Given the description of an element on the screen output the (x, y) to click on. 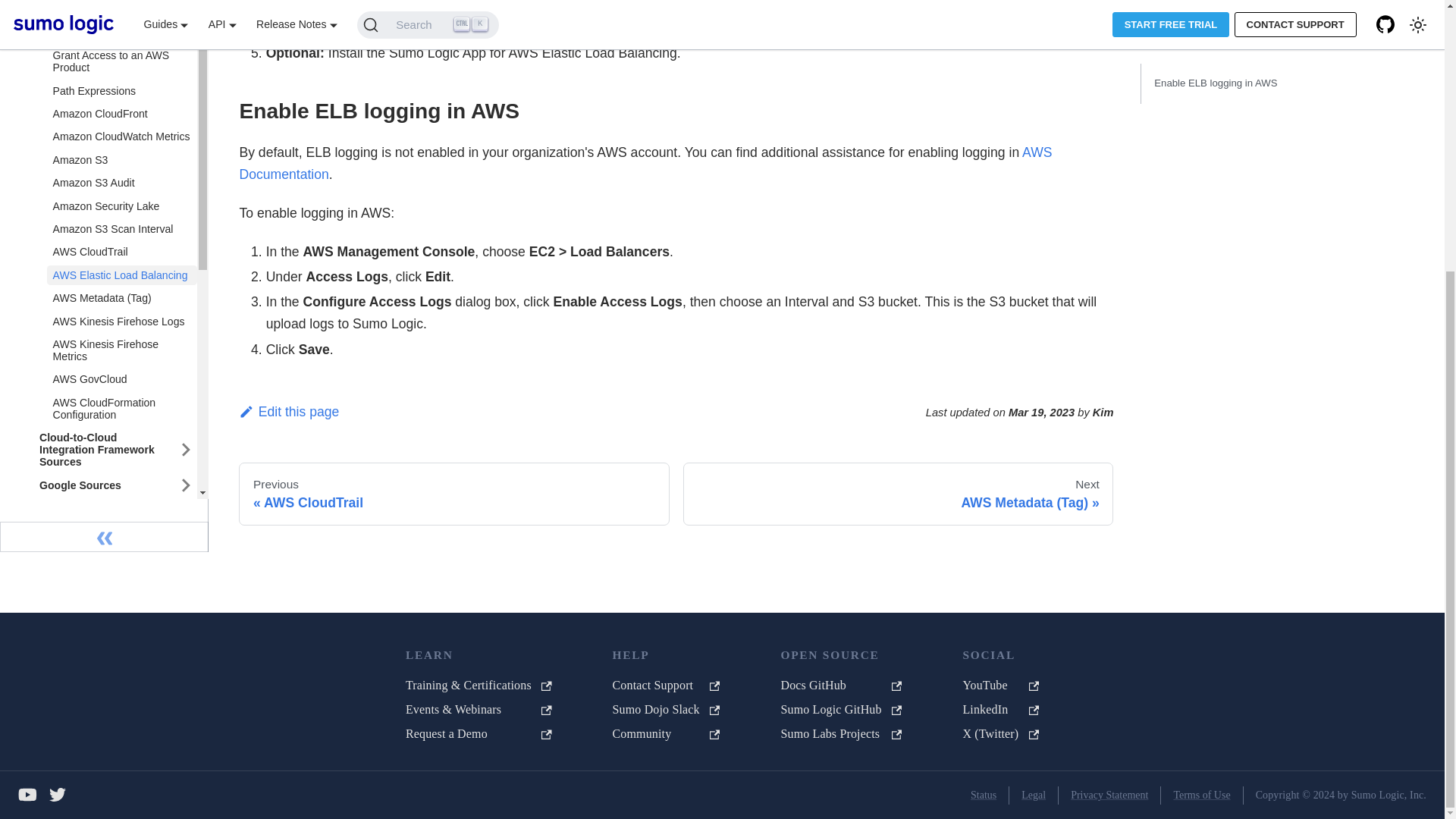
Collapse sidebar (104, 405)
